Given the description of an element on the screen output the (x, y) to click on. 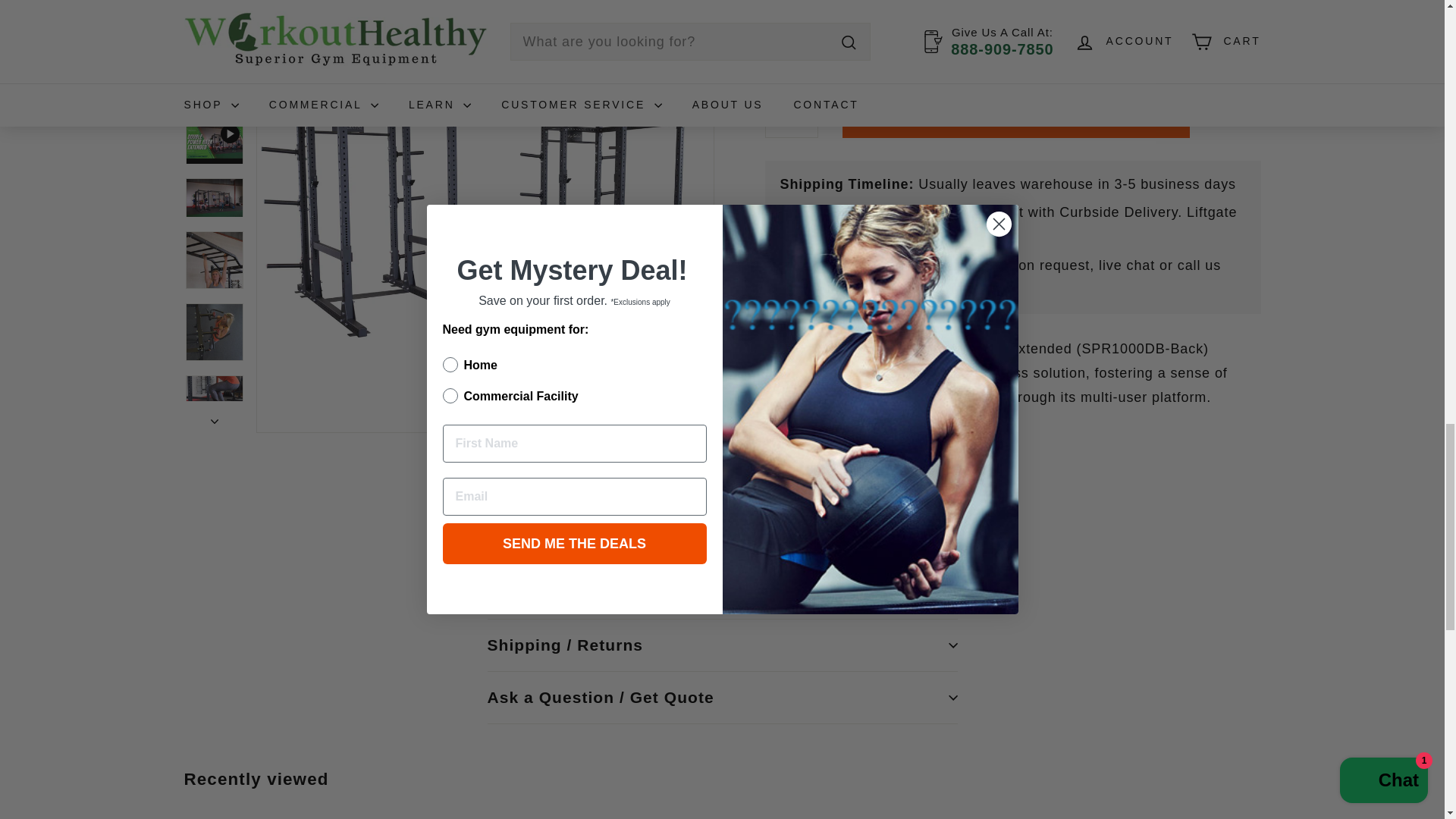
on (777, 20)
1 (790, 117)
